Given the description of an element on the screen output the (x, y) to click on. 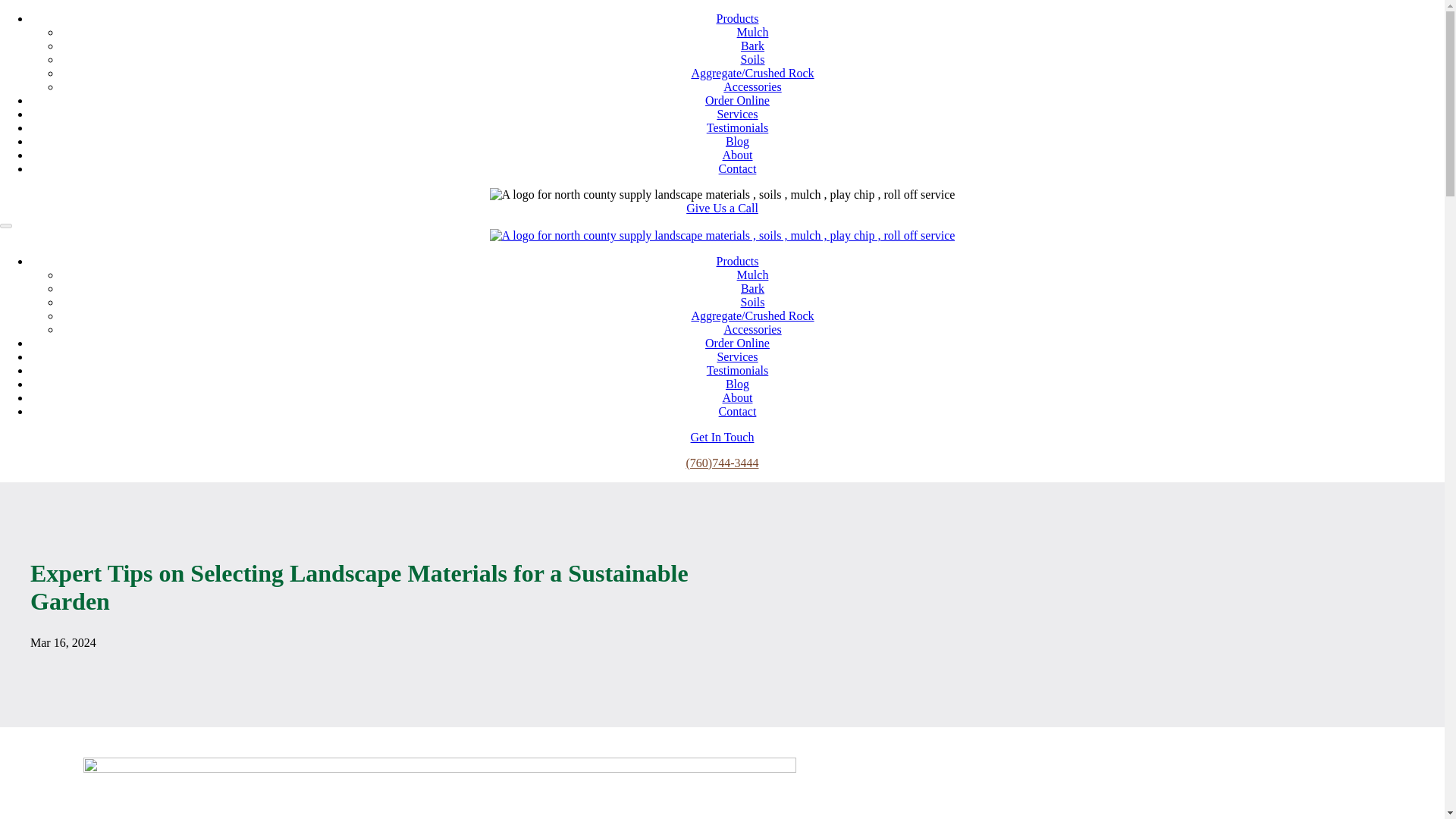
Order Online (737, 100)
Bark (752, 45)
Mulch (752, 31)
Services (736, 113)
Contact (738, 168)
Products (737, 18)
Services (736, 356)
Blog (737, 141)
Soils (751, 59)
Mulch (752, 274)
Get In Touch (722, 436)
Contact (738, 410)
About (737, 397)
Give Us a Call (721, 207)
About (737, 154)
